Given the description of an element on the screen output the (x, y) to click on. 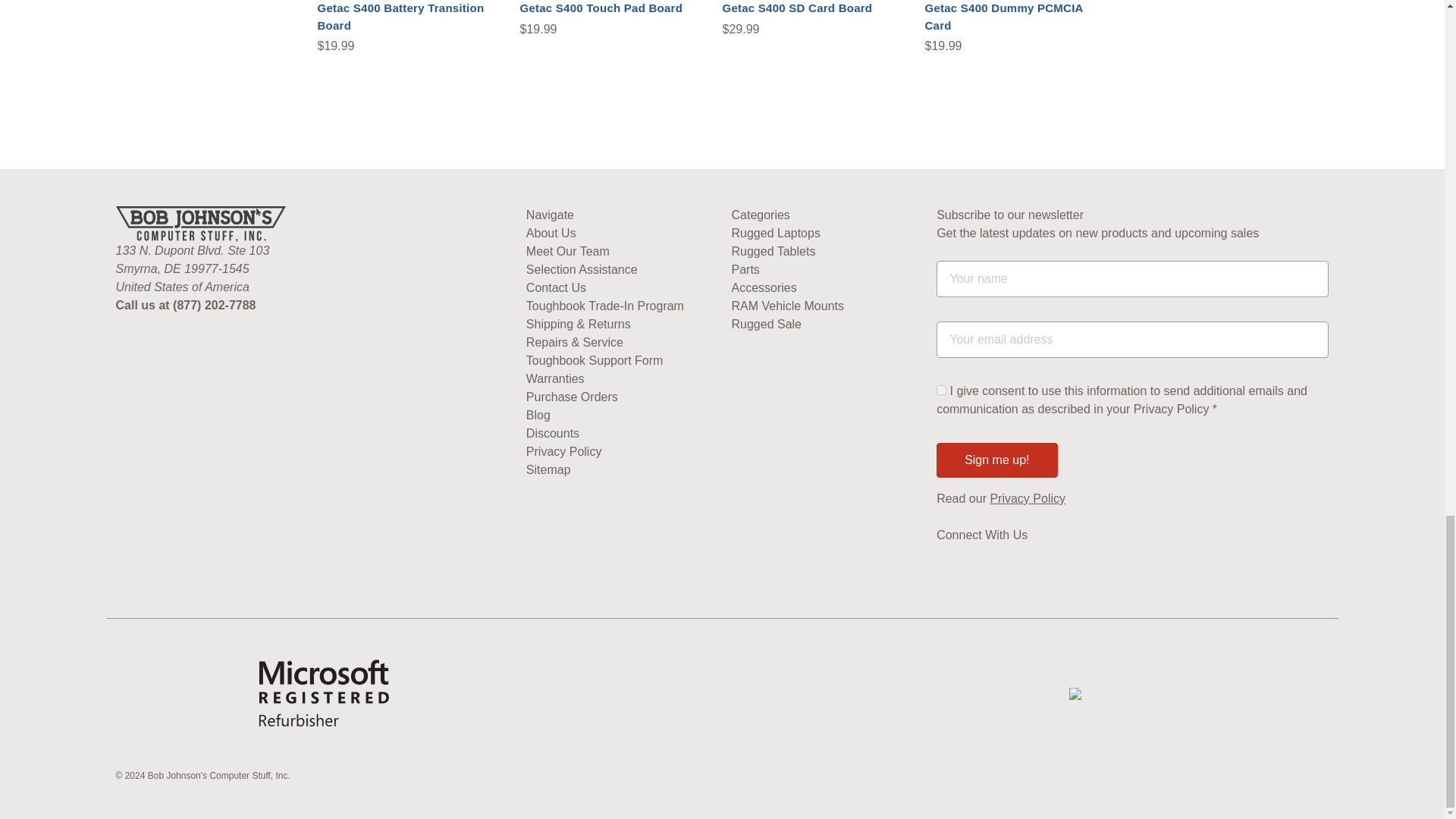
Youtube (944, 562)
Linkedin (1000, 562)
Bob Johnson's Computer Stuff, Inc. (200, 223)
Facebook (973, 562)
Instagram (1030, 562)
4842 (941, 389)
